Given the description of an element on the screen output the (x, y) to click on. 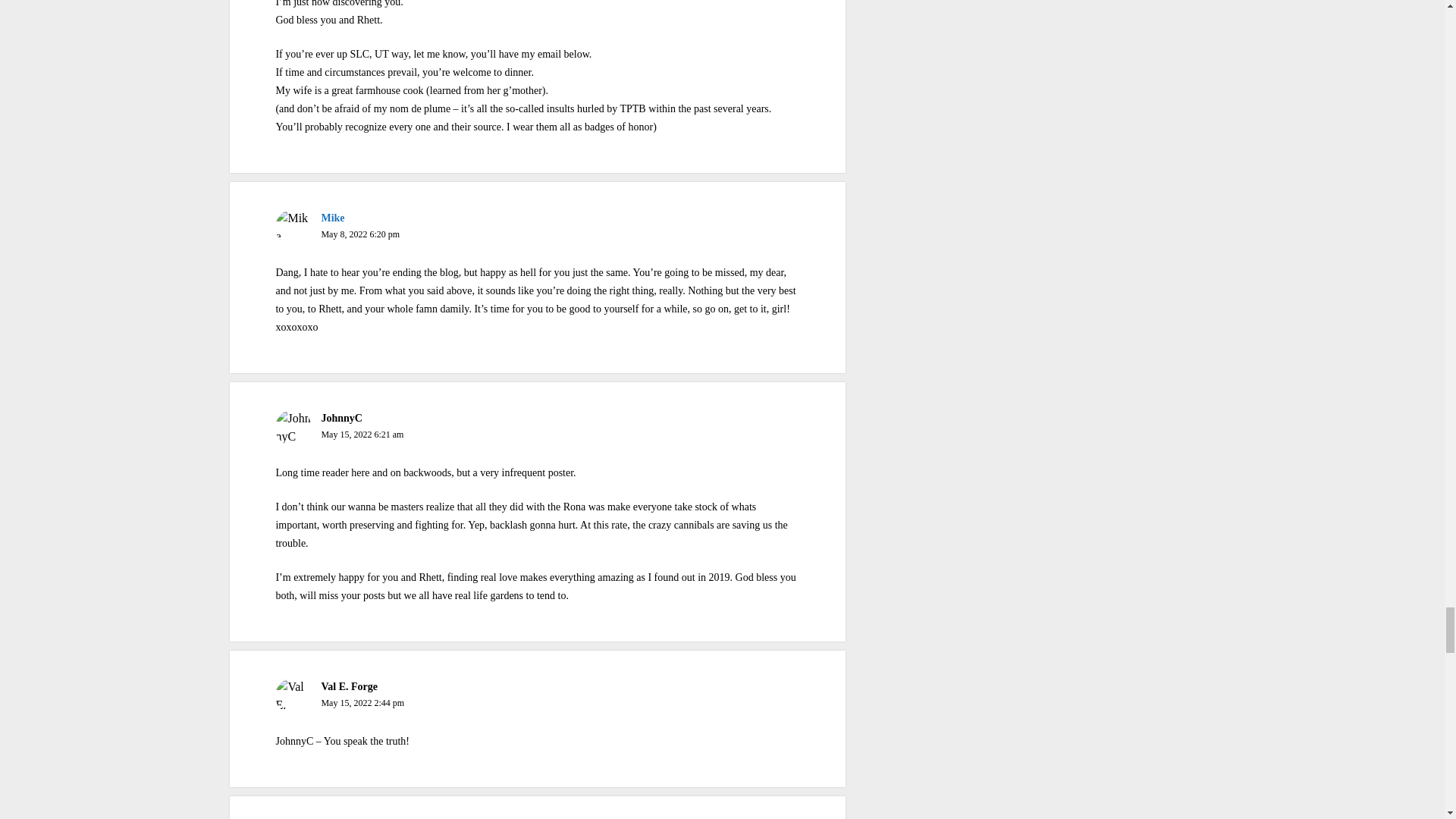
Mike (331, 217)
